Given the description of an element on the screen output the (x, y) to click on. 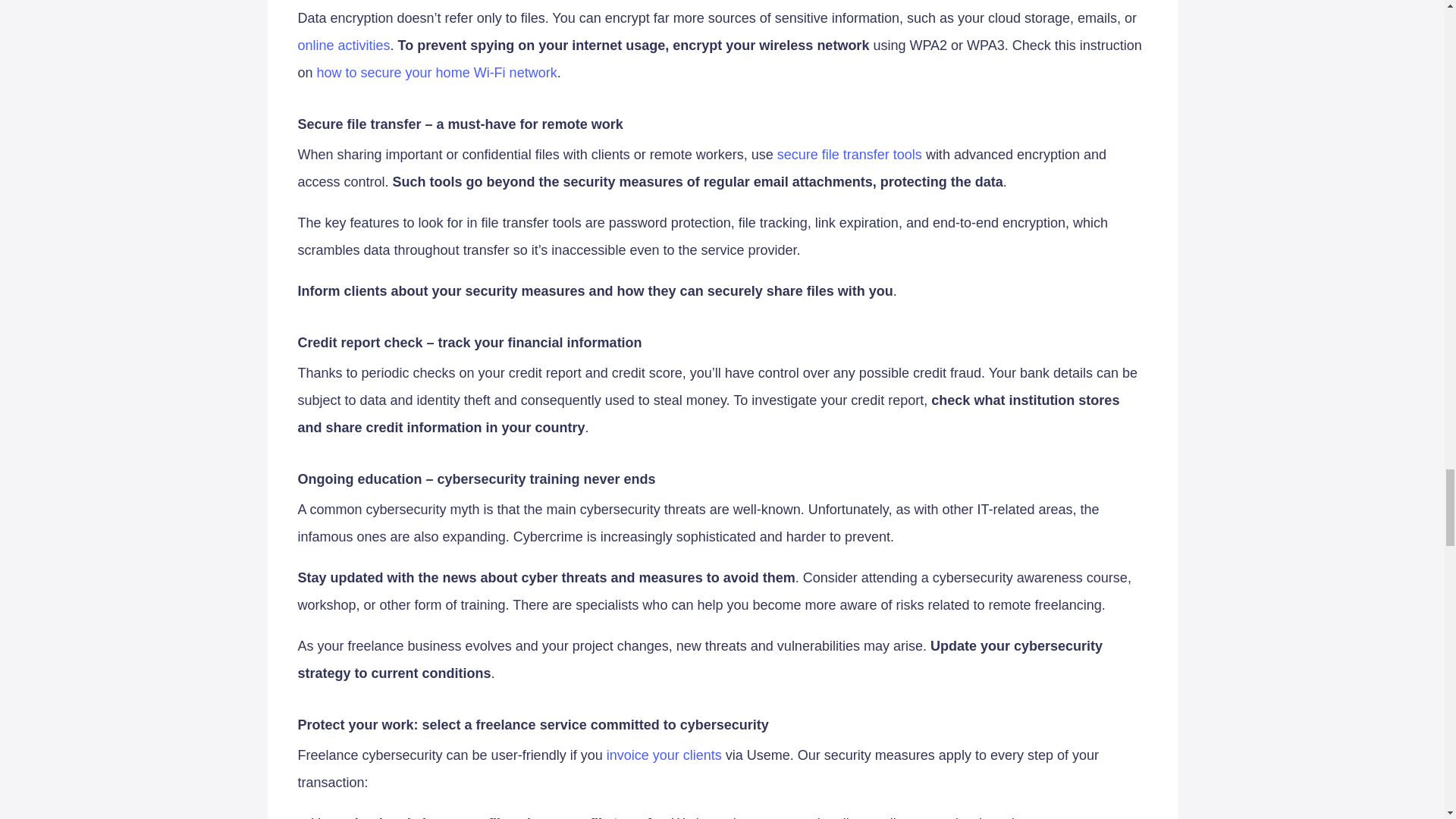
invoice your clients (664, 754)
online activities (343, 45)
how to secure your home Wi-Fi network (437, 72)
secure file transfer tools (849, 154)
